Given the description of an element on the screen output the (x, y) to click on. 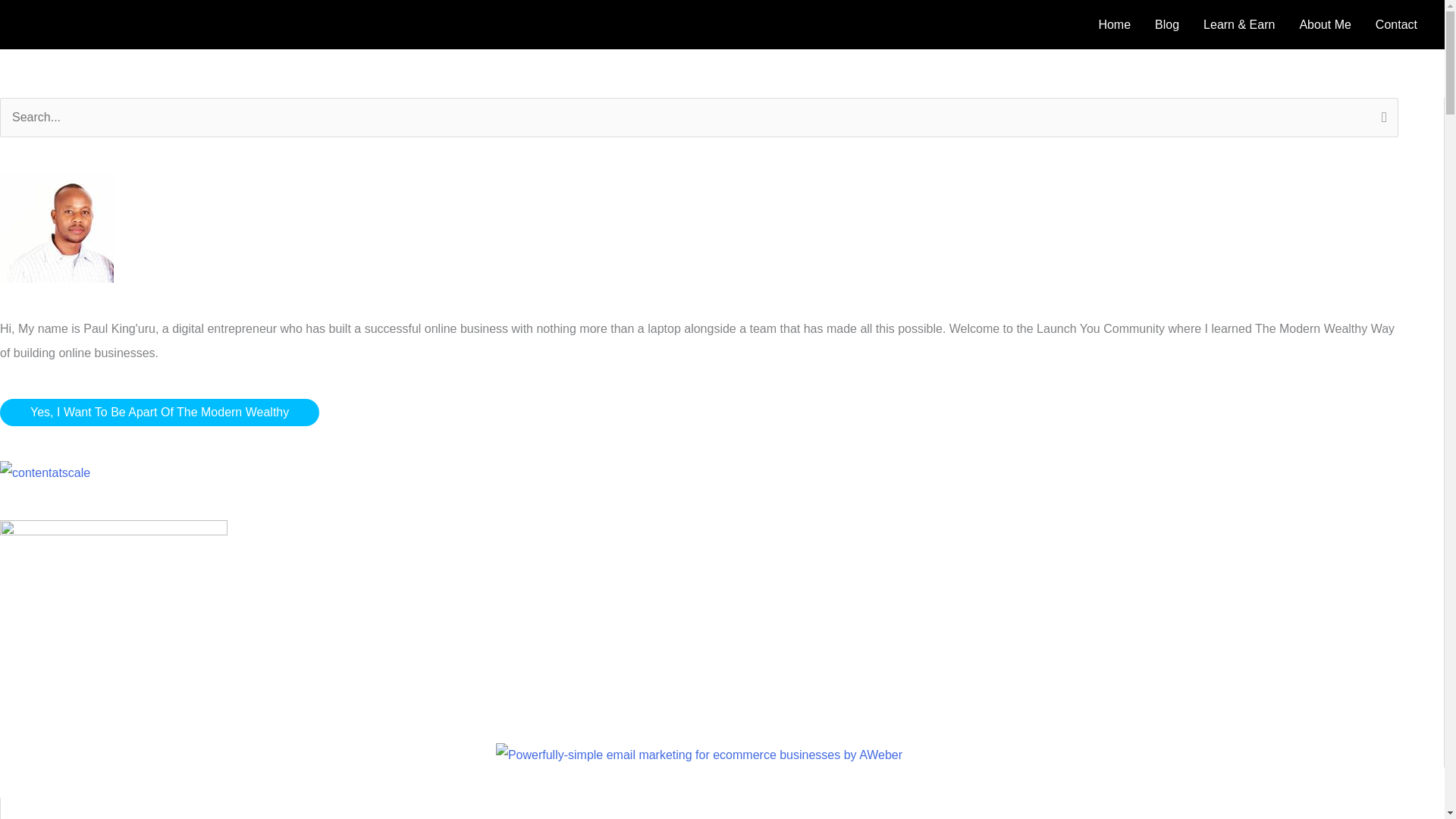
Yes, I Want To Be Apart Of The Modern Wealthy (159, 411)
About Me (1324, 24)
Contact (1395, 24)
Home (1114, 24)
Blog (1166, 24)
